Given the description of an element on the screen output the (x, y) to click on. 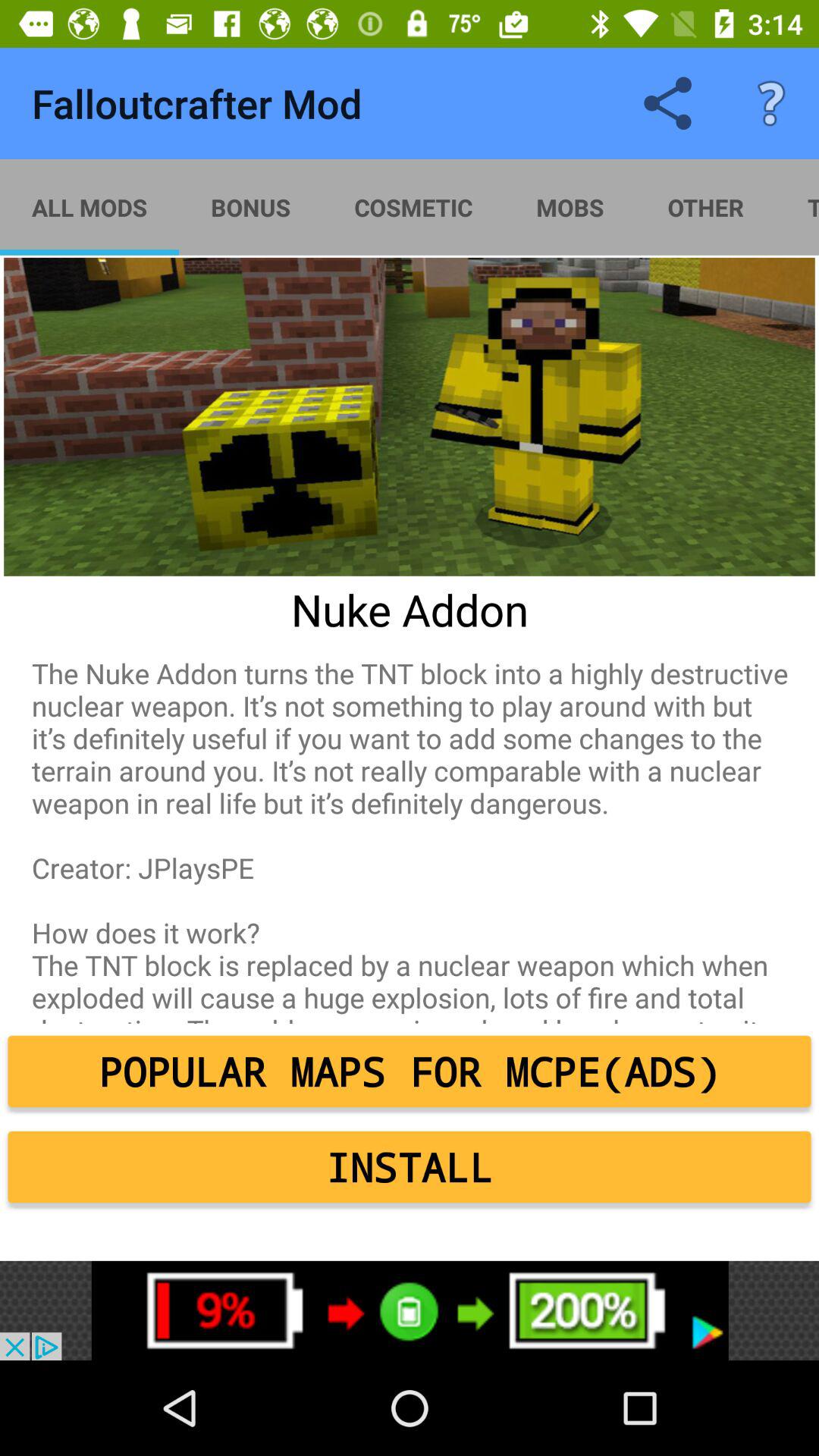
click the bonus (250, 207)
select the cosmetic (413, 207)
click on the share icon (668, 103)
